Given the description of an element on the screen output the (x, y) to click on. 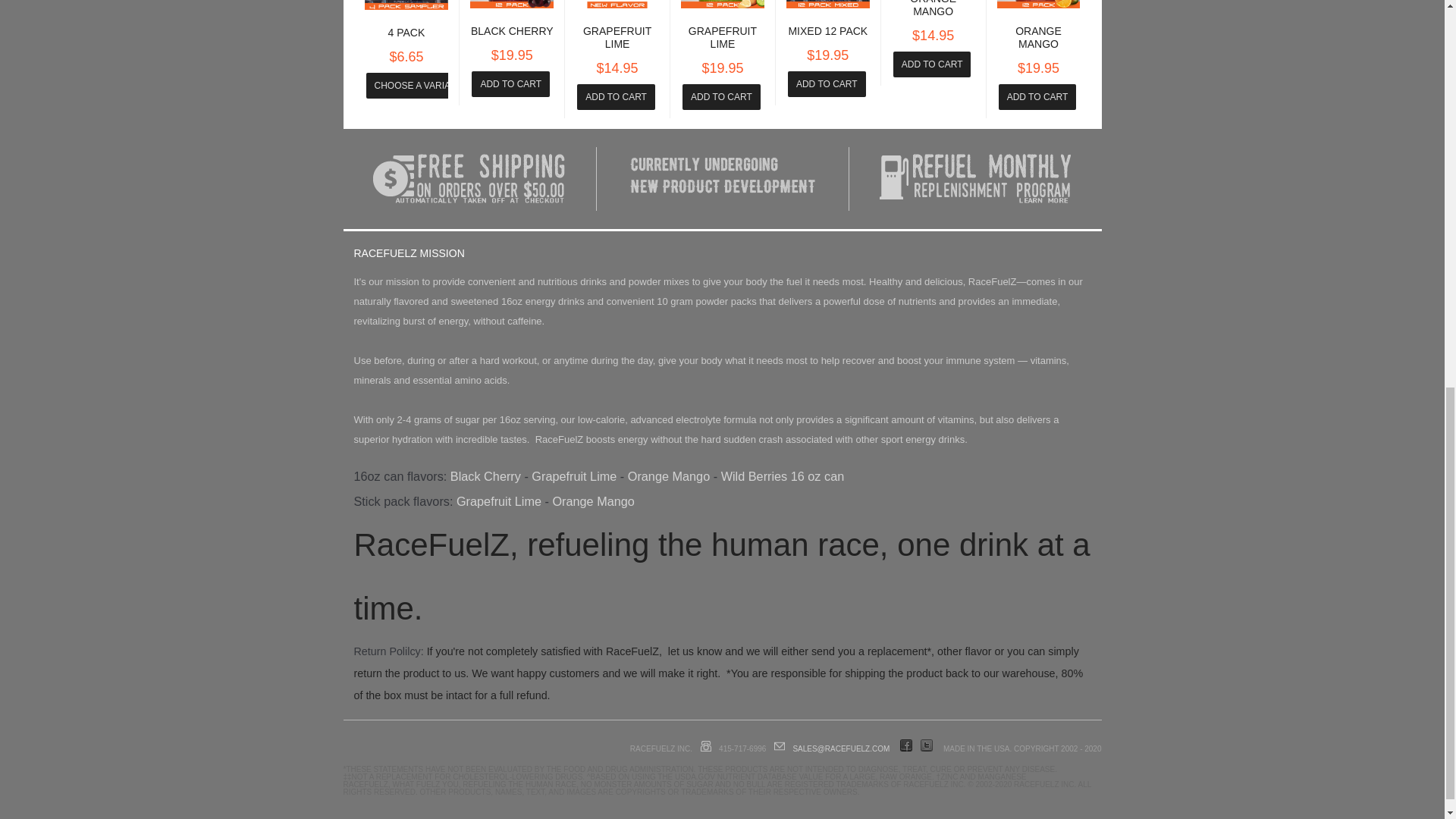
Choose a variant (417, 85)
Add to Cart (510, 84)
RaceFuelZ Orange Mango 16oz can (668, 476)
Orange Mango (933, 8)
Grapefruit Lime (616, 37)
Choose a variant (417, 85)
Add to Cart (721, 96)
Add to Cart (826, 84)
GRAPEFRUIT LIME (616, 37)
Add to Cart (932, 63)
RaceFuelZ Grapefruit Lime 16oz can (573, 476)
4 PACK (406, 32)
Mixed 12 Pack (827, 30)
Black Cherry (511, 30)
RaceFuelZ Black Cherry 16oz can (485, 476)
